Given the description of an element on the screen output the (x, y) to click on. 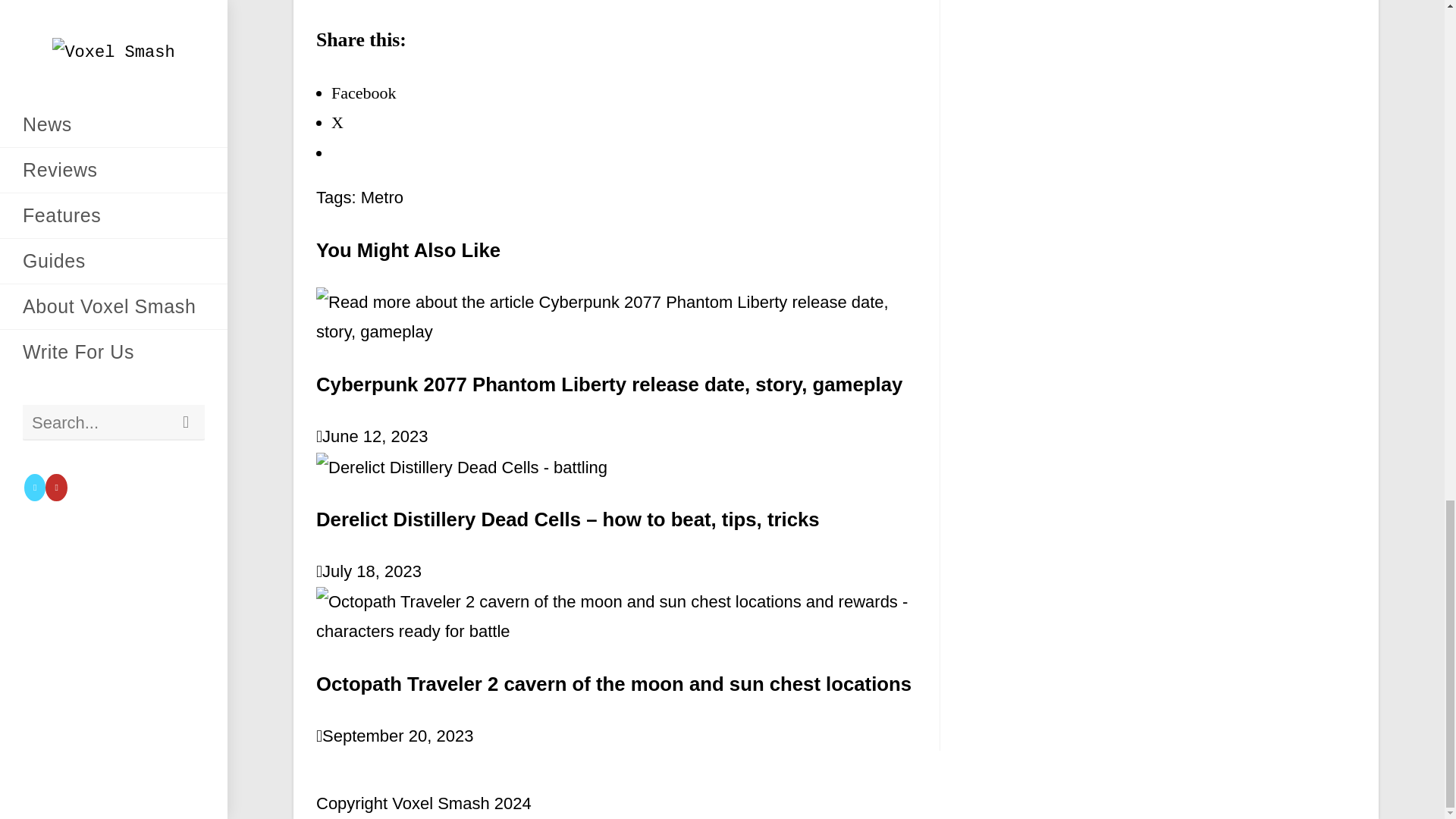
Cyberpunk 2077 Phantom Liberty release date, story, gameplay (608, 383)
Click to share on Facebook (363, 92)
Metro (382, 197)
Facebook (363, 92)
